Given the description of an element on the screen output the (x, y) to click on. 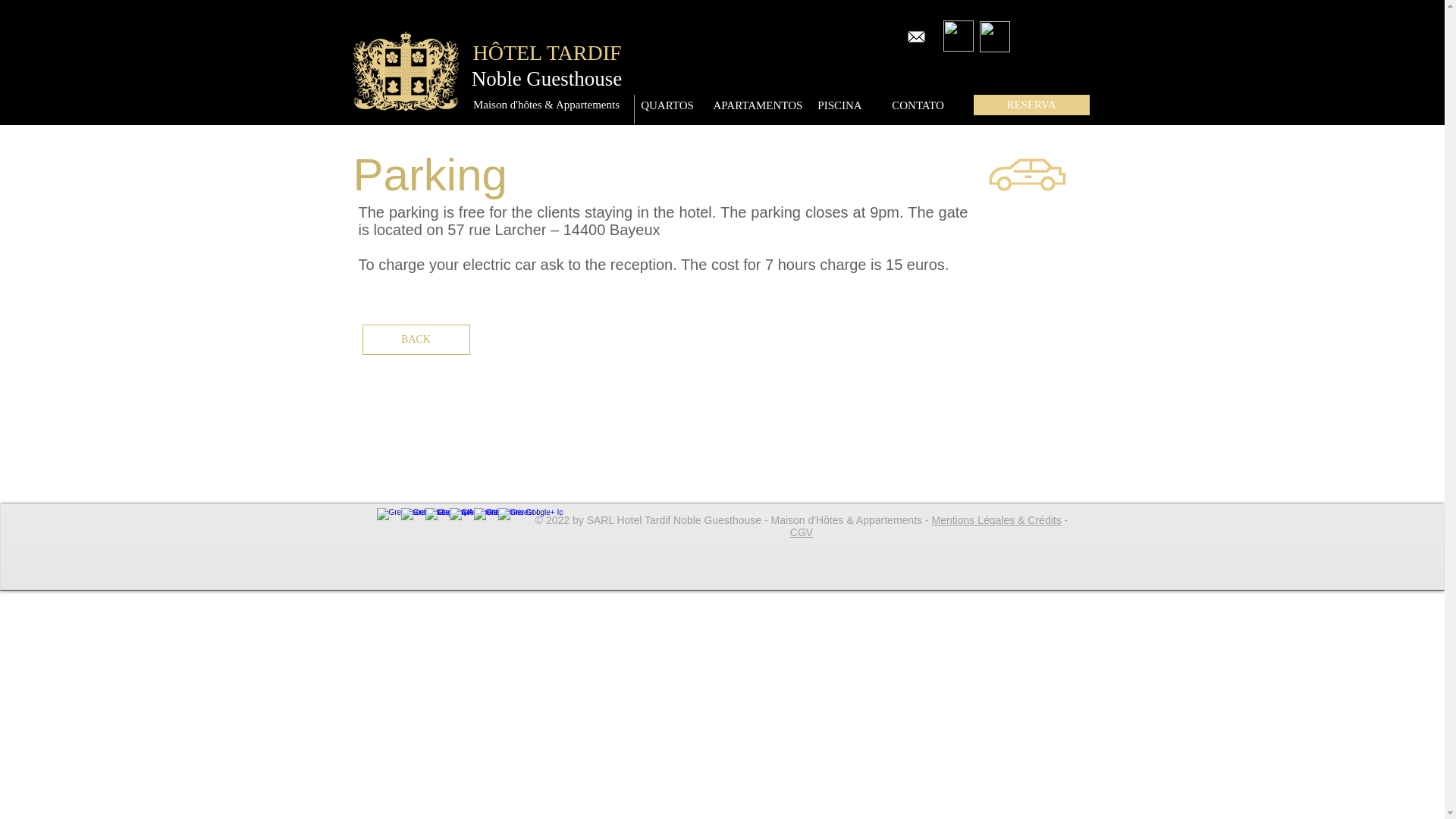
RESERVA (1031, 105)
QUARTOS (667, 105)
APARTAMENTOS (757, 105)
Noble Guesthouse (545, 78)
BACK (416, 339)
PISCINA (839, 105)
CGV (801, 532)
CONTATO (917, 105)
